Given the description of an element on the screen output the (x, y) to click on. 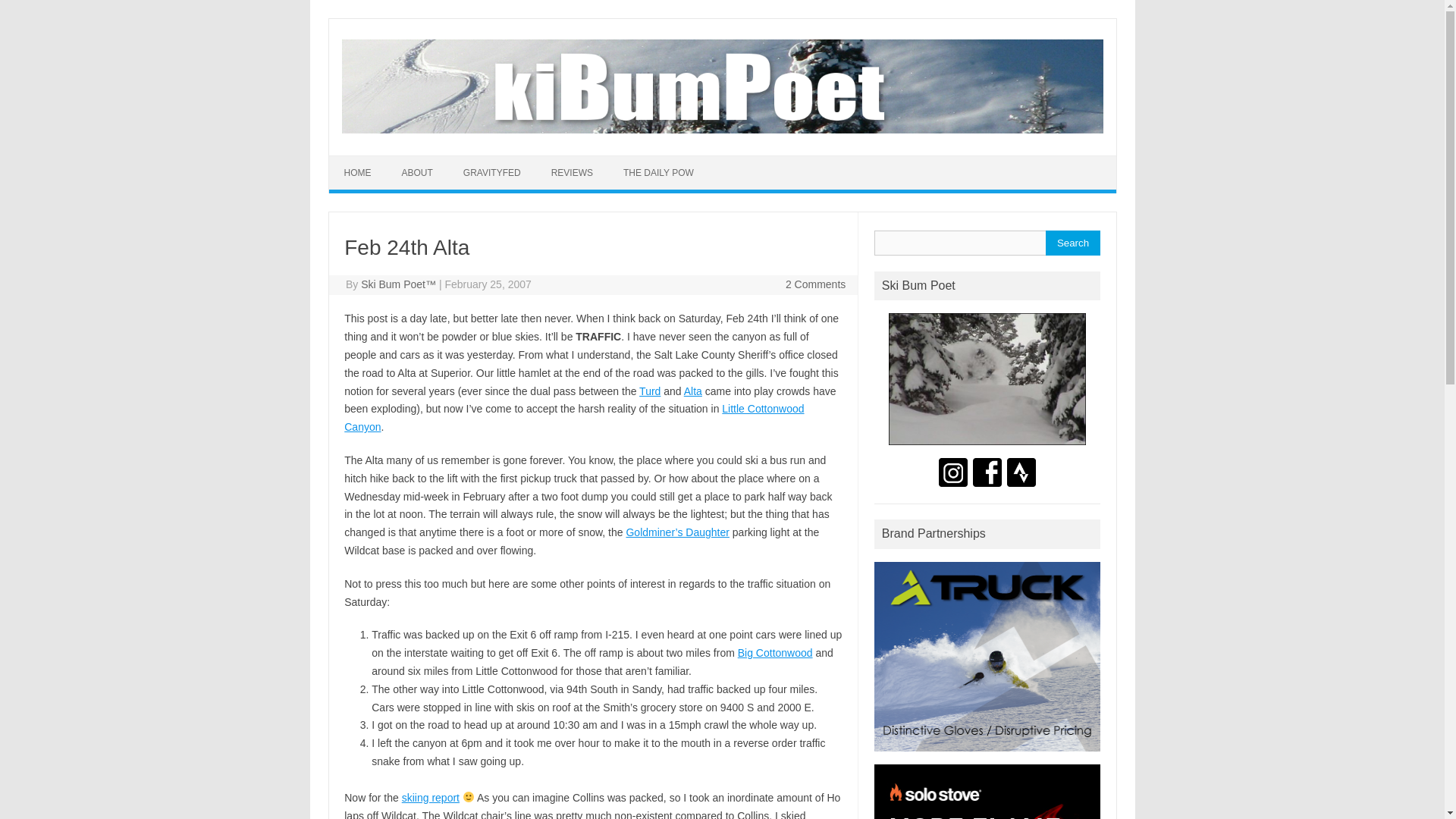
REVIEWS (571, 172)
HOME (358, 172)
2 Comments (815, 284)
Ski Bum Poet (987, 449)
Big Cottonwood (775, 653)
GRAVITYFED (491, 172)
Little Cottonwood Canyon (573, 417)
ABOUT (417, 172)
Search (1072, 242)
skiing report (430, 797)
Search (1072, 242)
Alta (692, 390)
THE DAILY POW (658, 172)
TRUCK Gloves (987, 755)
